Given the description of an element on the screen output the (x, y) to click on. 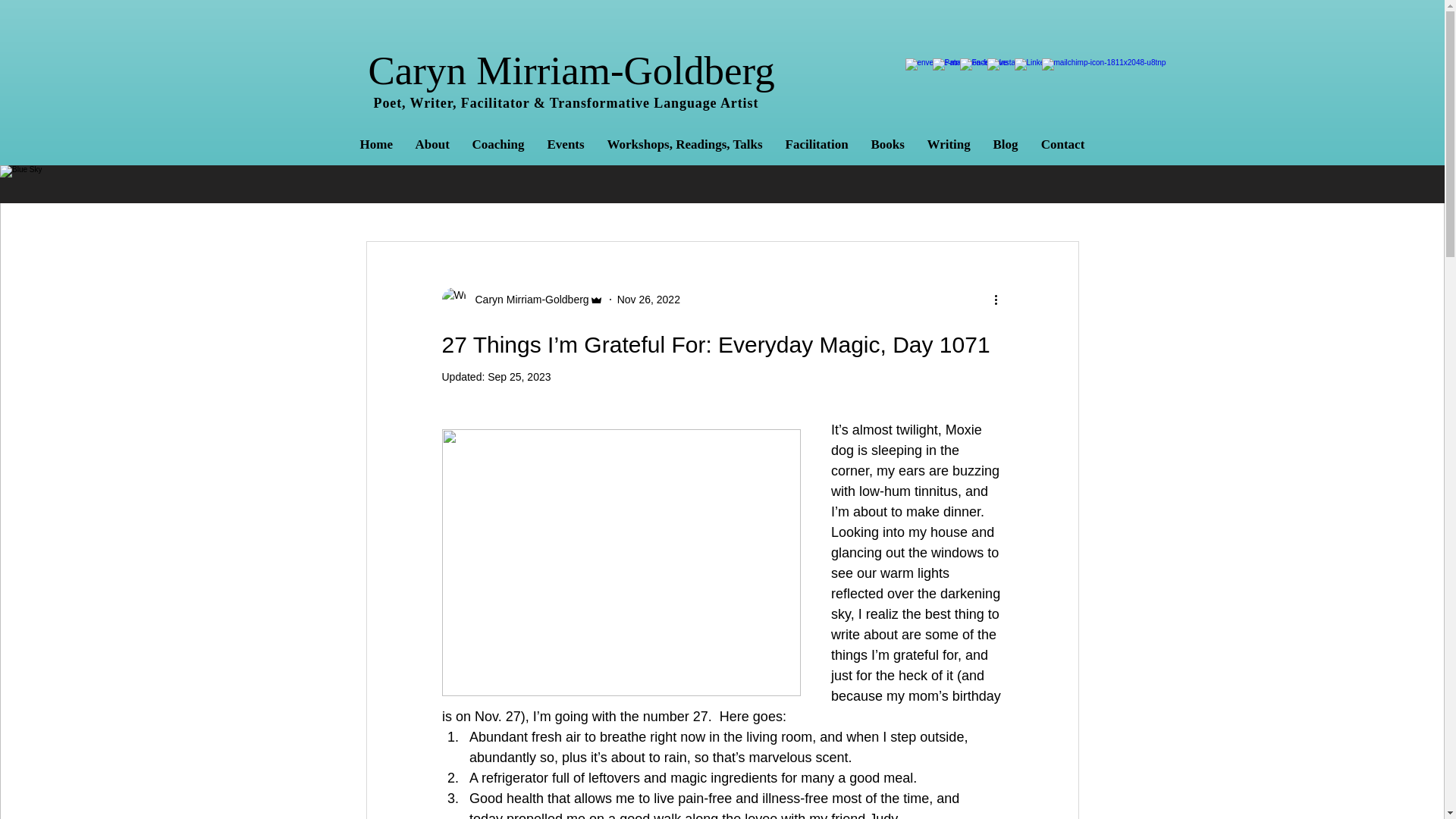
Events (565, 144)
Beauty (608, 194)
Blog (1005, 144)
Caryn Mirriam-Goldberg (526, 299)
About (431, 144)
Books (887, 144)
Workshops, Readings, Talks (684, 144)
Contact (1062, 144)
Writing (948, 144)
Bioregionalism (817, 194)
Facilitation (816, 144)
arts (670, 194)
Activism (536, 194)
Nov 26, 2022 (648, 298)
Coaching (498, 144)
